Given the description of an element on the screen output the (x, y) to click on. 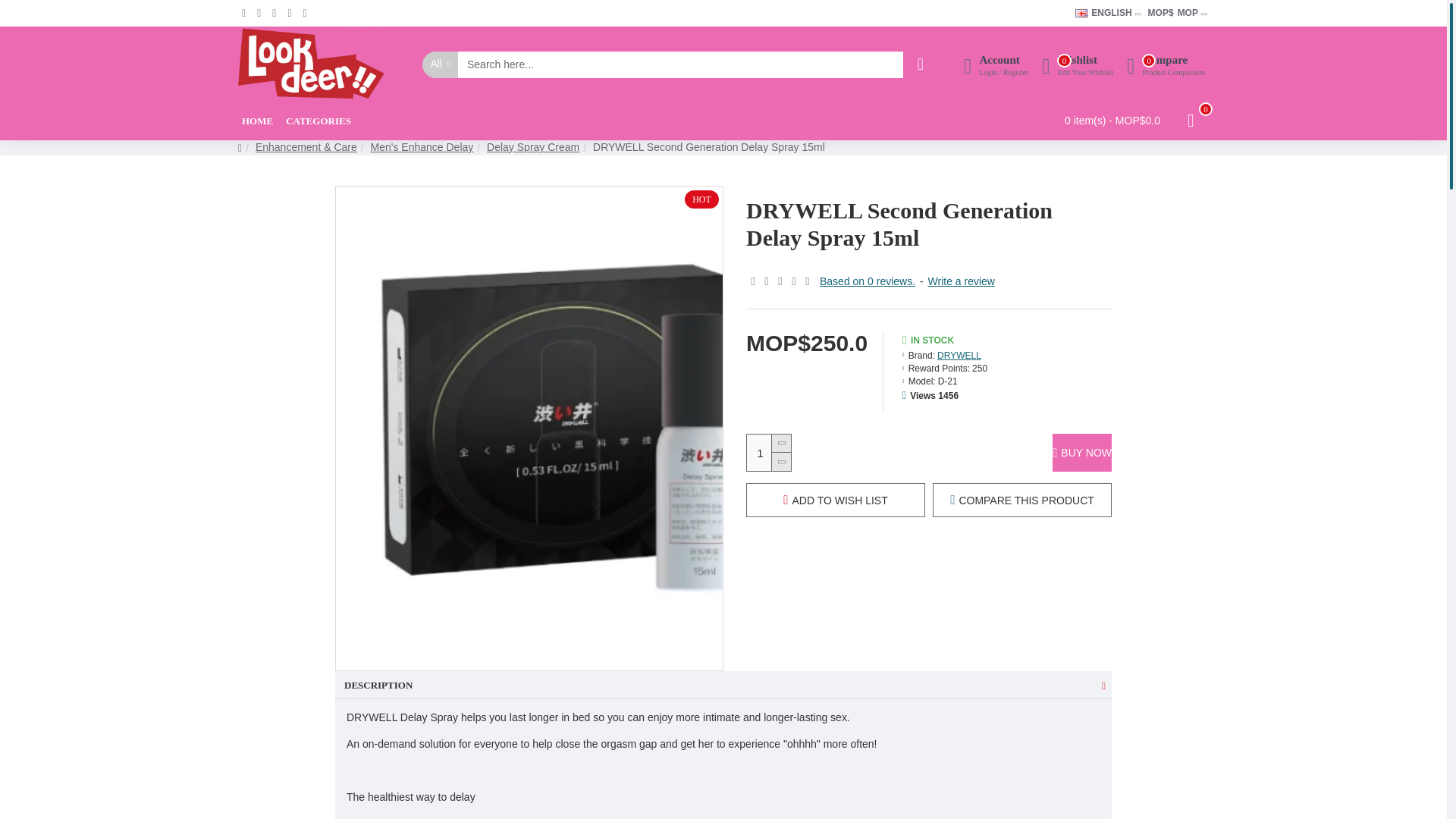
HOME (257, 121)
English (1165, 64)
DRYWELL Second Generation Delay Spray 15ml (1081, 13)
CATEGORIES (1103, 12)
1 (318, 121)
